Given the description of an element on the screen output the (x, y) to click on. 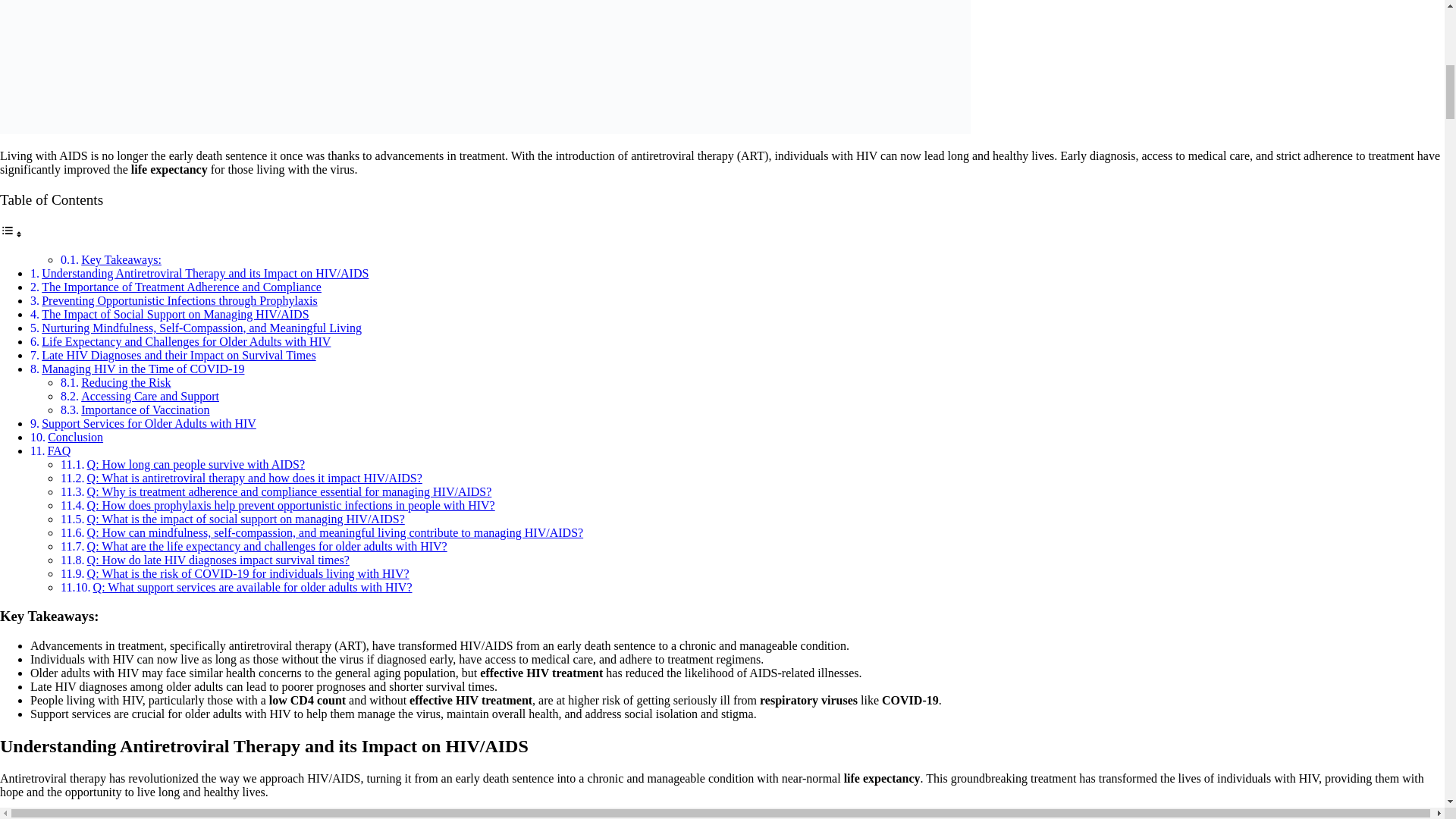
Preventing Opportunistic Infections through Prophylaxis (179, 300)
Key Takeaways: (121, 259)
Accessing Care and Support (150, 395)
Q: How long can people survive with AIDS? (196, 463)
Managing HIV in the Time of COVID-19 (143, 368)
Reducing the Risk (125, 382)
Late HIV Diagnoses and their Impact on Survival Times (178, 354)
Life Expectancy and Challenges for Older Adults with HIV (186, 341)
The Importance of Treatment Adherence and Compliance (181, 286)
FAQ (59, 450)
The Importance of Treatment Adherence and Compliance (181, 286)
Managing HIV in the Time of COVID-19 (143, 368)
Reducing the Risk (125, 382)
